Given the description of an element on the screen output the (x, y) to click on. 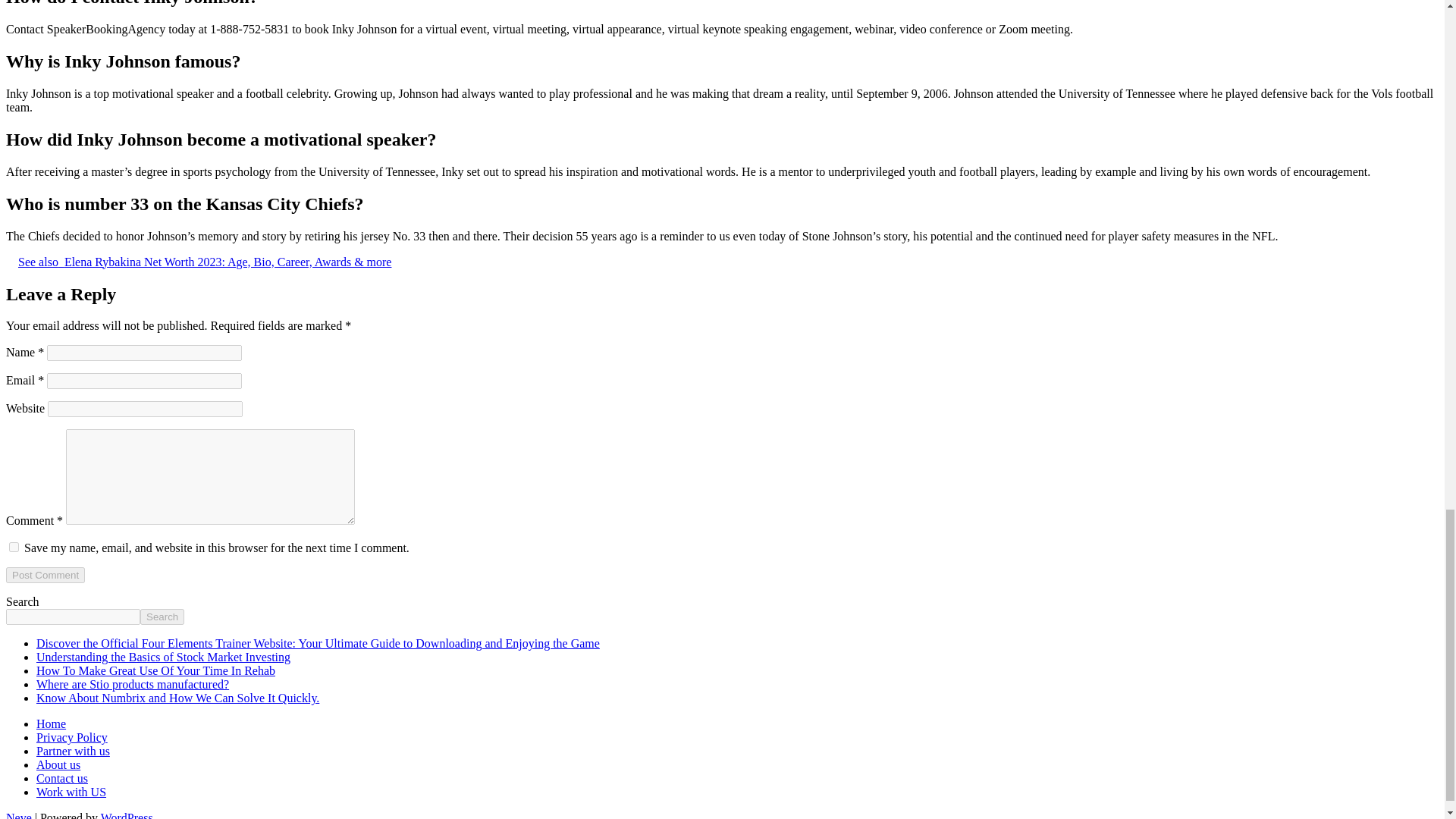
About us (58, 764)
Search (161, 616)
Privacy Policy (71, 737)
Understanding the Basics of Stock Market Investing (162, 656)
Know About Numbrix and How We Can Solve It Quickly. (177, 697)
How To Make Great Use Of Your Time In Rehab (155, 670)
yes (13, 547)
Home (50, 723)
Where are Stio products manufactured? (132, 684)
